Given the description of an element on the screen output the (x, y) to click on. 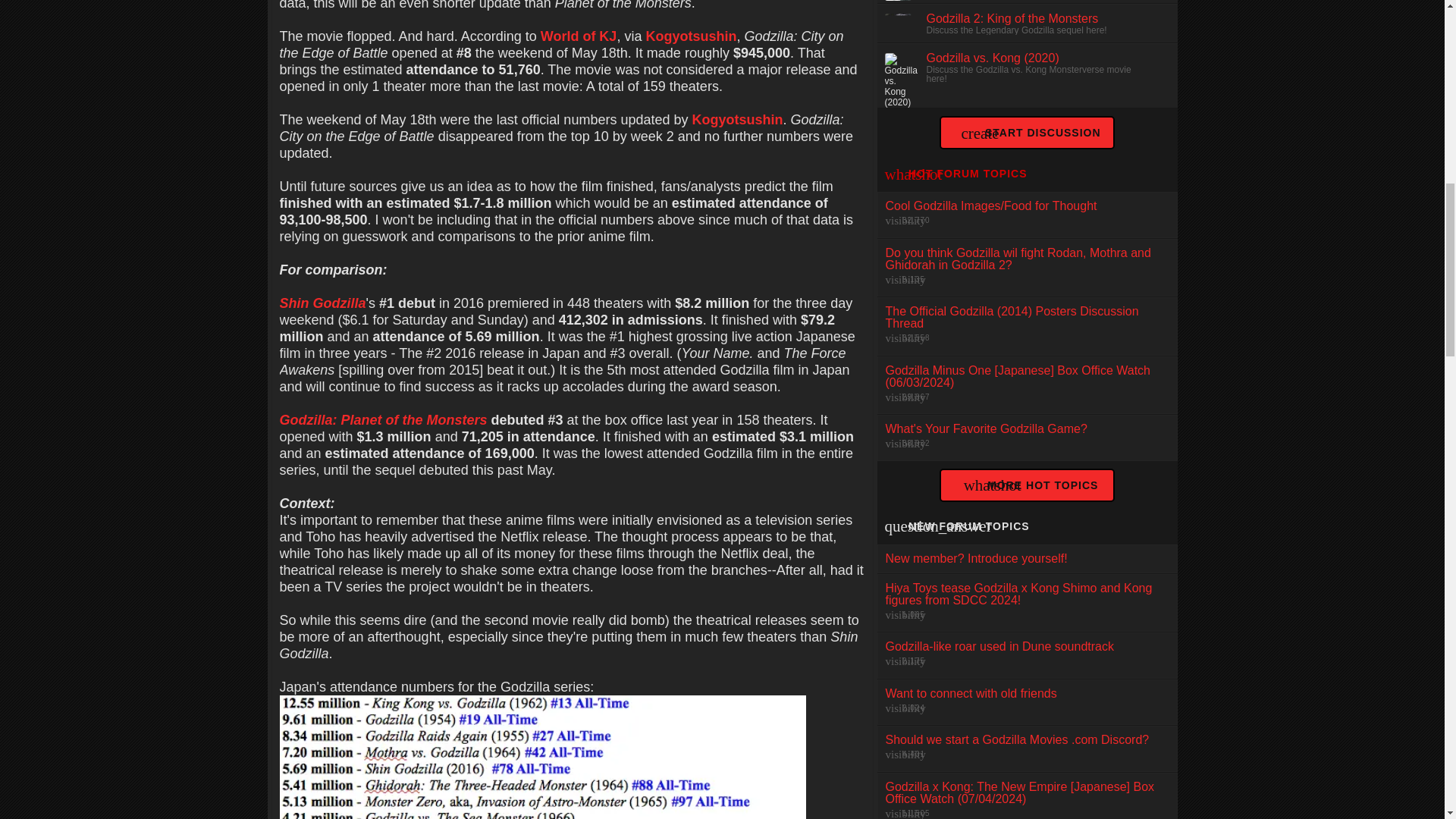
Shin Godzilla (322, 303)
Kogyotsushin (737, 119)
Kogyotsushin (690, 36)
Godzilla: Planet of the Monsters (382, 419)
World of KJ (578, 36)
